Given the description of an element on the screen output the (x, y) to click on. 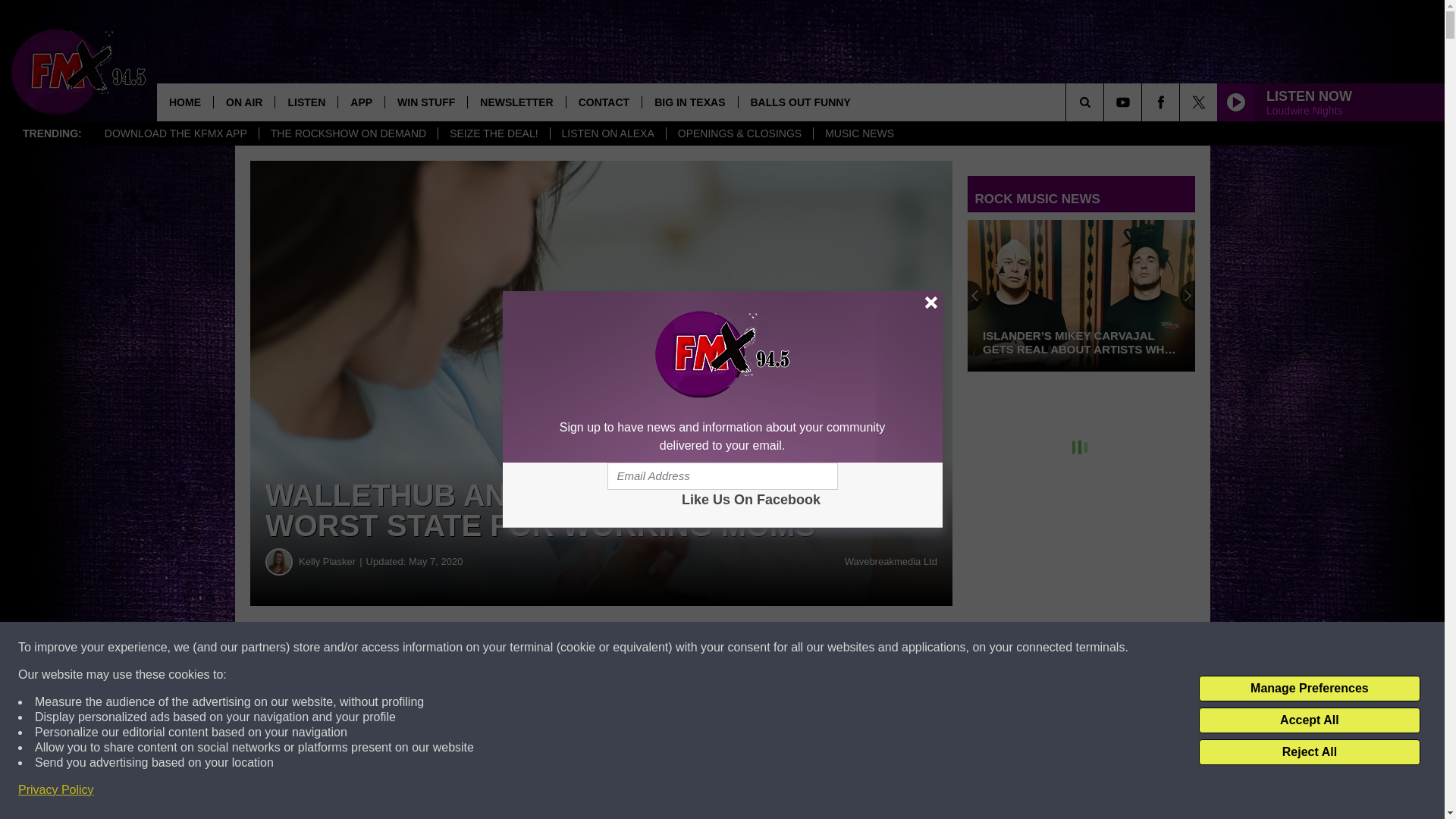
LISTEN (306, 102)
ON AIR (243, 102)
Email Address (722, 475)
Share on Facebook (460, 647)
Reject All (1309, 751)
HOME (184, 102)
SEARCH (1106, 102)
Share on Twitter (741, 647)
TRENDING: (52, 133)
APP (360, 102)
THE ROCKSHOW ON DEMAND (348, 133)
WIN STUFF (425, 102)
Manage Preferences (1309, 688)
DOWNLOAD THE KFMX APP (176, 133)
LISTEN ON ALEXA (607, 133)
